Given the description of an element on the screen output the (x, y) to click on. 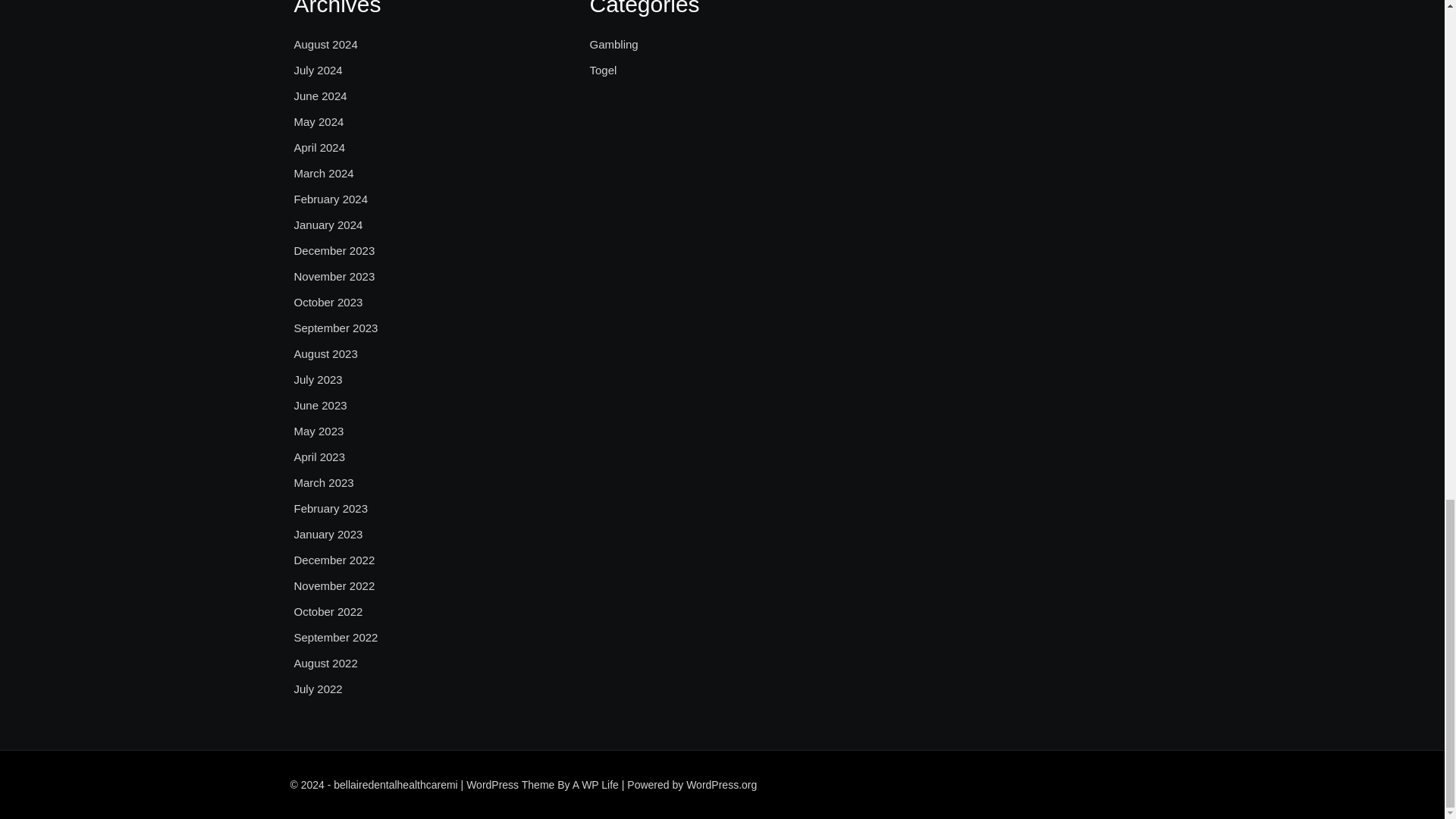
June 2023 (320, 405)
March 2024 (323, 173)
December 2023 (334, 250)
August 2024 (326, 45)
April 2023 (320, 456)
March 2023 (323, 483)
June 2024 (320, 95)
July 2023 (318, 380)
May 2024 (318, 122)
September 2023 (336, 328)
December 2022 (334, 560)
August 2023 (326, 353)
November 2023 (334, 276)
November 2022 (334, 586)
May 2023 (318, 431)
